Given the description of an element on the screen output the (x, y) to click on. 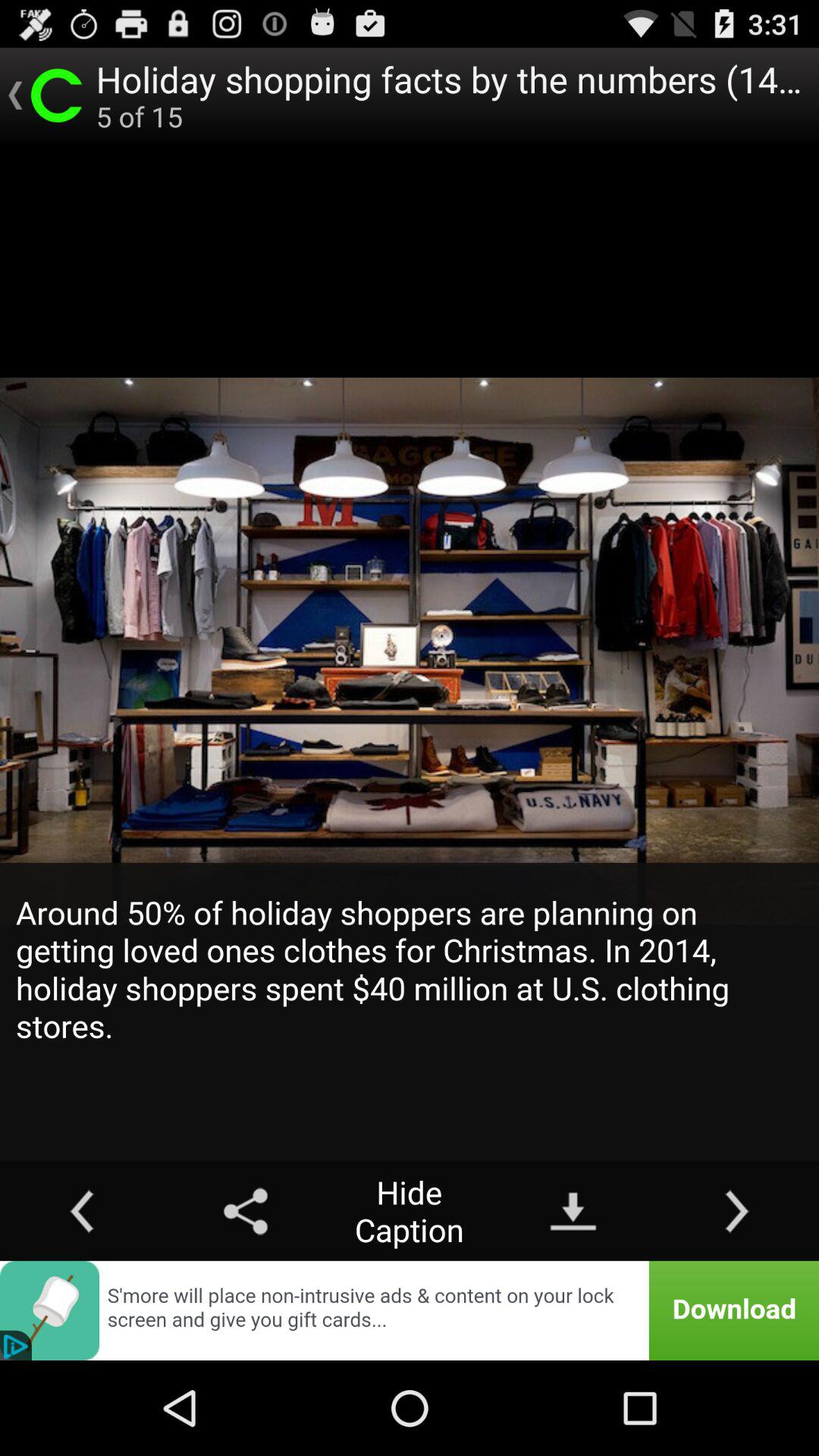
turn off item next to hide caption button (573, 1210)
